Given the description of an element on the screen output the (x, y) to click on. 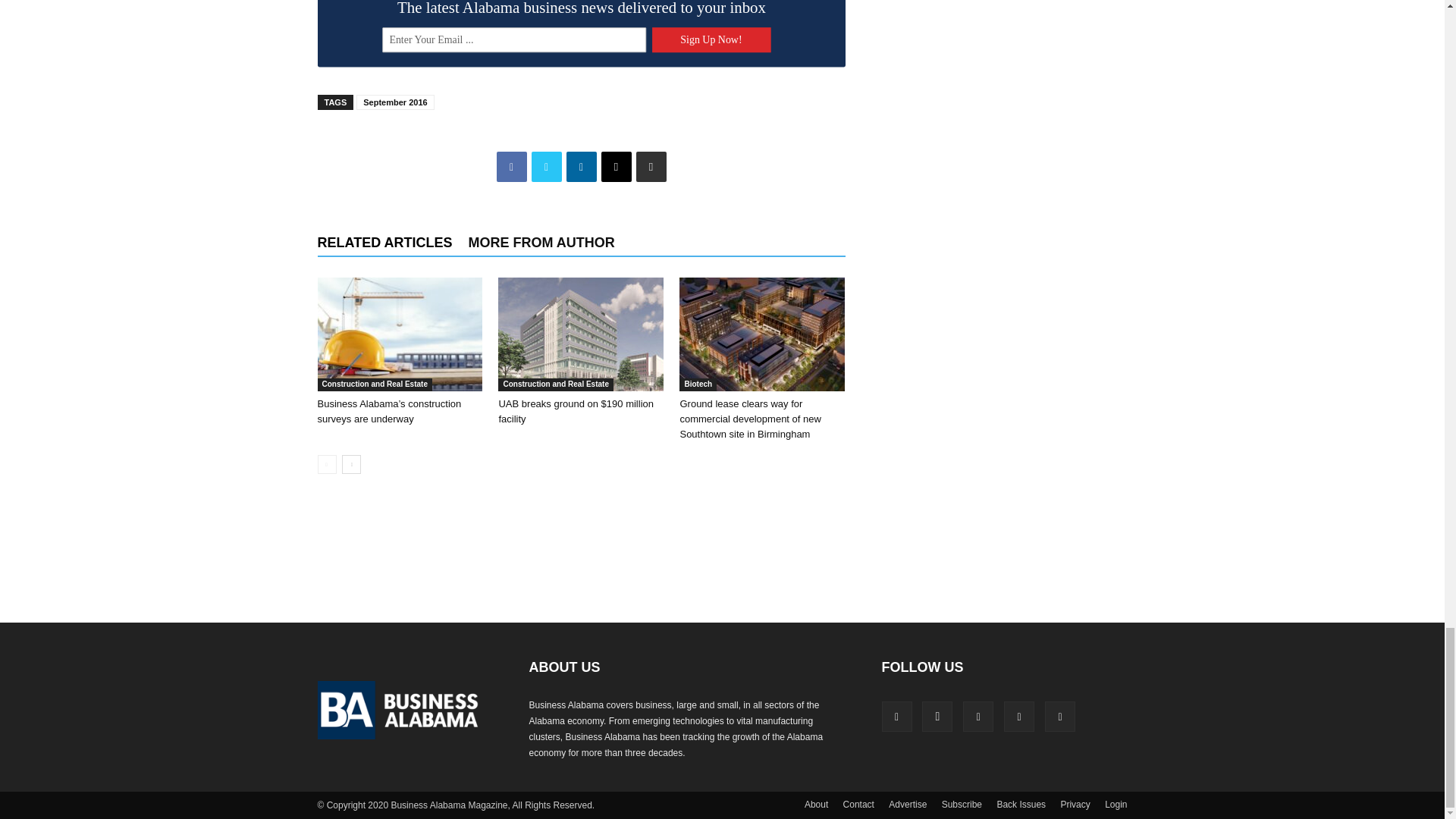
Twitter (545, 166)
Facebook (510, 166)
